Given the description of an element on the screen output the (x, y) to click on. 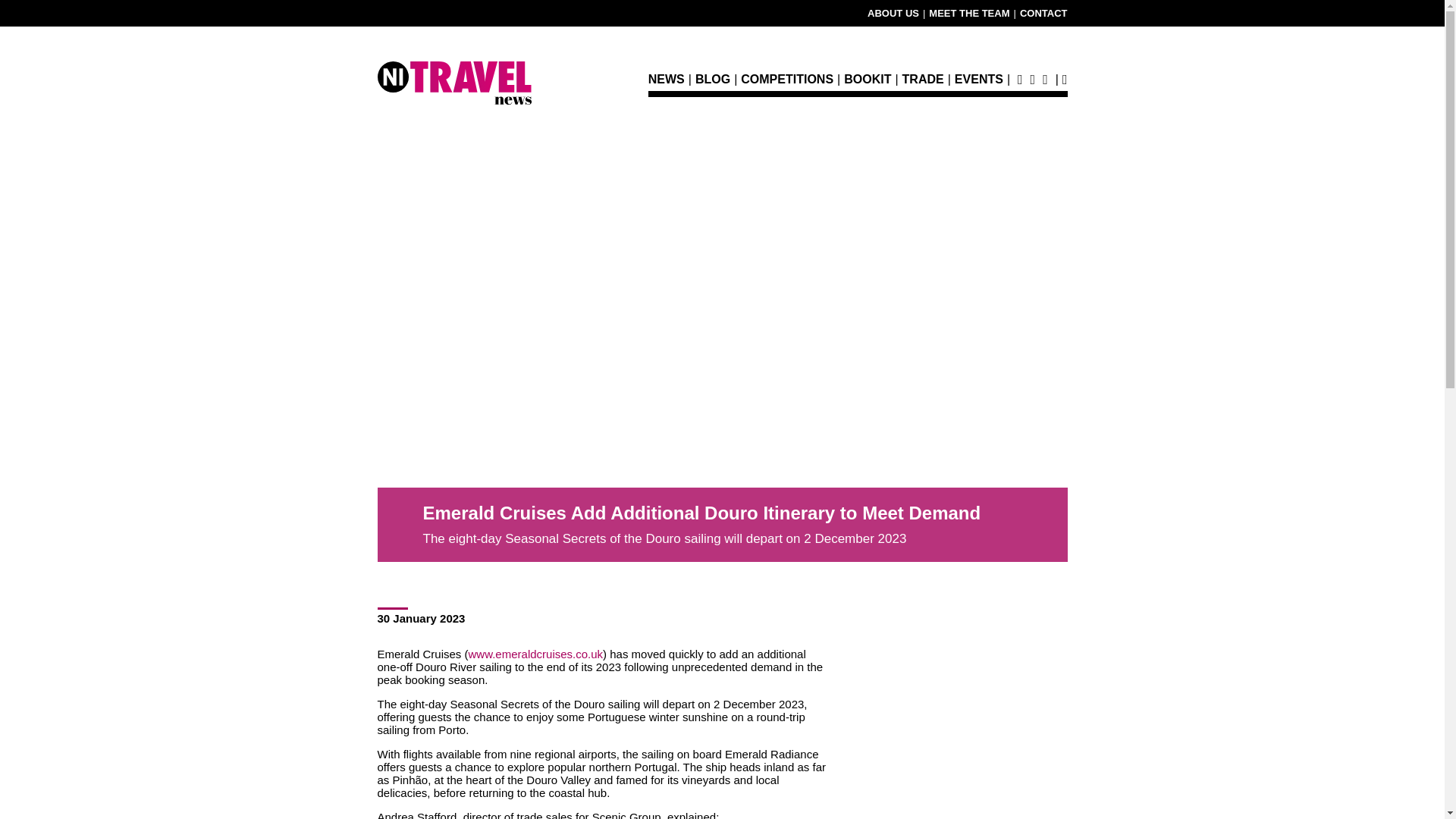
BOOKIT (867, 84)
NEWS (665, 84)
www.emeraldcruises.co.uk (536, 653)
EVENTS (979, 84)
COMPETITIONS (786, 84)
MEET THE TEAM (968, 12)
CONTACT (1043, 12)
BLOG (712, 84)
TRADE (922, 84)
ABOUT US (892, 12)
